Given the description of an element on the screen output the (x, y) to click on. 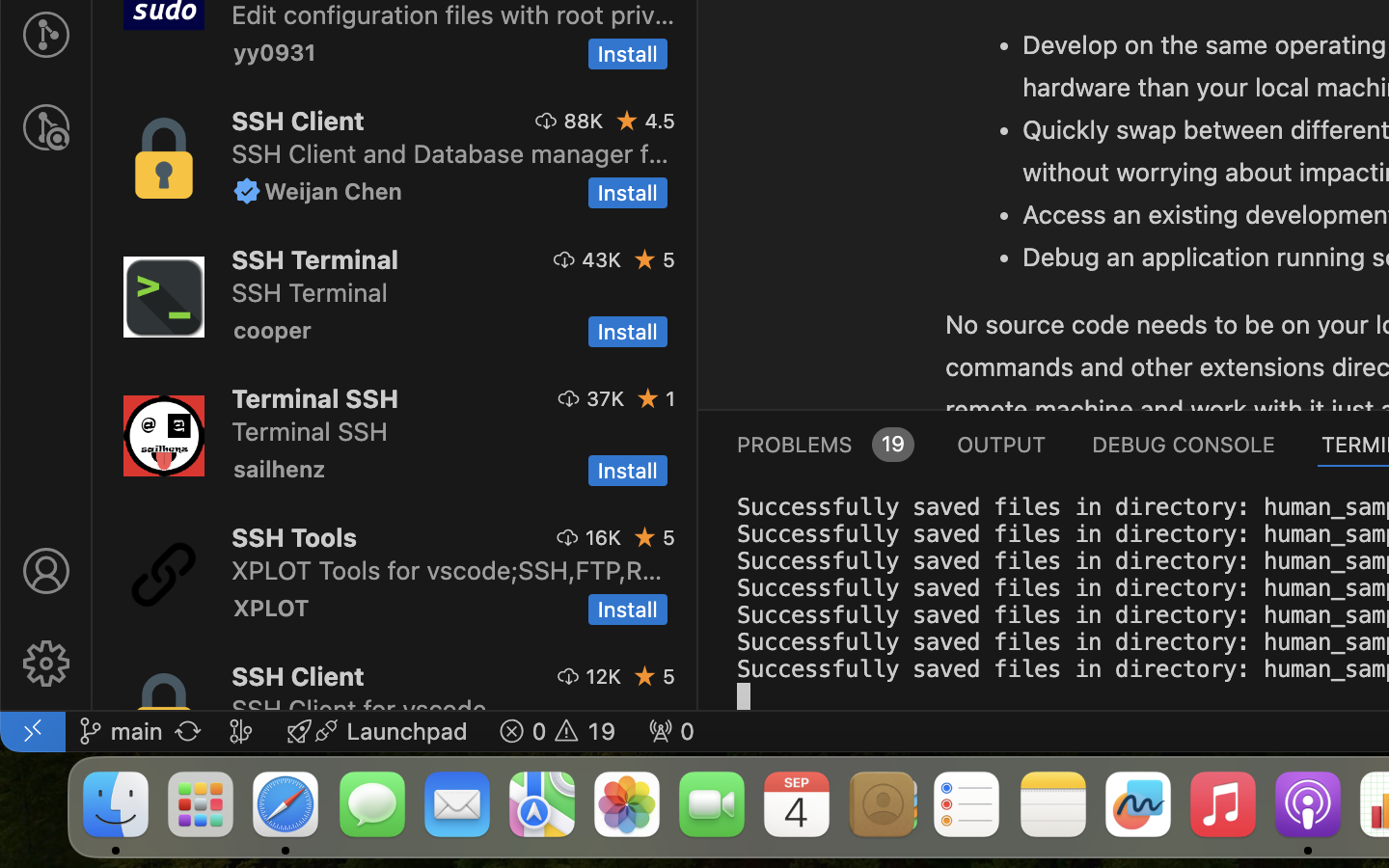
XPLOT Tools for vscode;SSH,FTP,Remote Element type: AXStaticText (447, 569)
4.5 Element type: AXStaticText (659, 120)
SSH Terminal Element type: AXStaticText (315, 258)
12K Element type: AXStaticText (603, 675)
SSH Tools Element type: AXStaticText (294, 536)
